Given the description of an element on the screen output the (x, y) to click on. 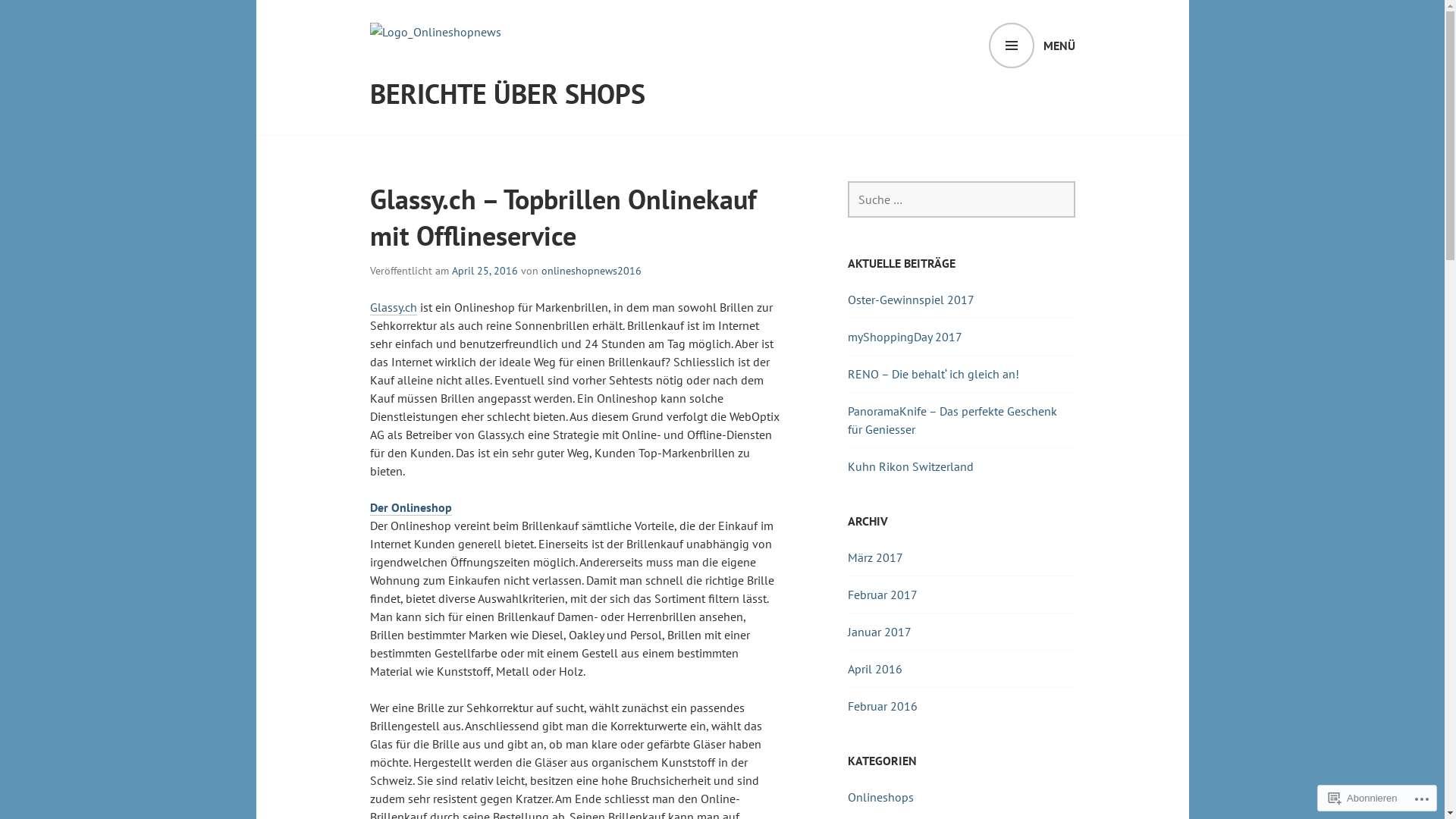
April 25, 2016 Element type: text (484, 270)
April 2016 Element type: text (874, 668)
Januar 2017 Element type: text (879, 631)
Februar 2017 Element type: text (882, 594)
onlineshopnews2016 Element type: text (591, 270)
Glassy.ch Element type: text (393, 307)
Suche Element type: text (36, 18)
Oster-Gewinnspiel 2017 Element type: text (910, 299)
Abonnieren Element type: text (1362, 797)
Onlineshops Element type: text (880, 796)
Kuhn Rikon Switzerland Element type: text (910, 465)
myShoppingDay 2017 Element type: text (904, 336)
Der Onlineshop Element type: text (410, 507)
Februar 2016 Element type: text (882, 705)
